Given the description of an element on the screen output the (x, y) to click on. 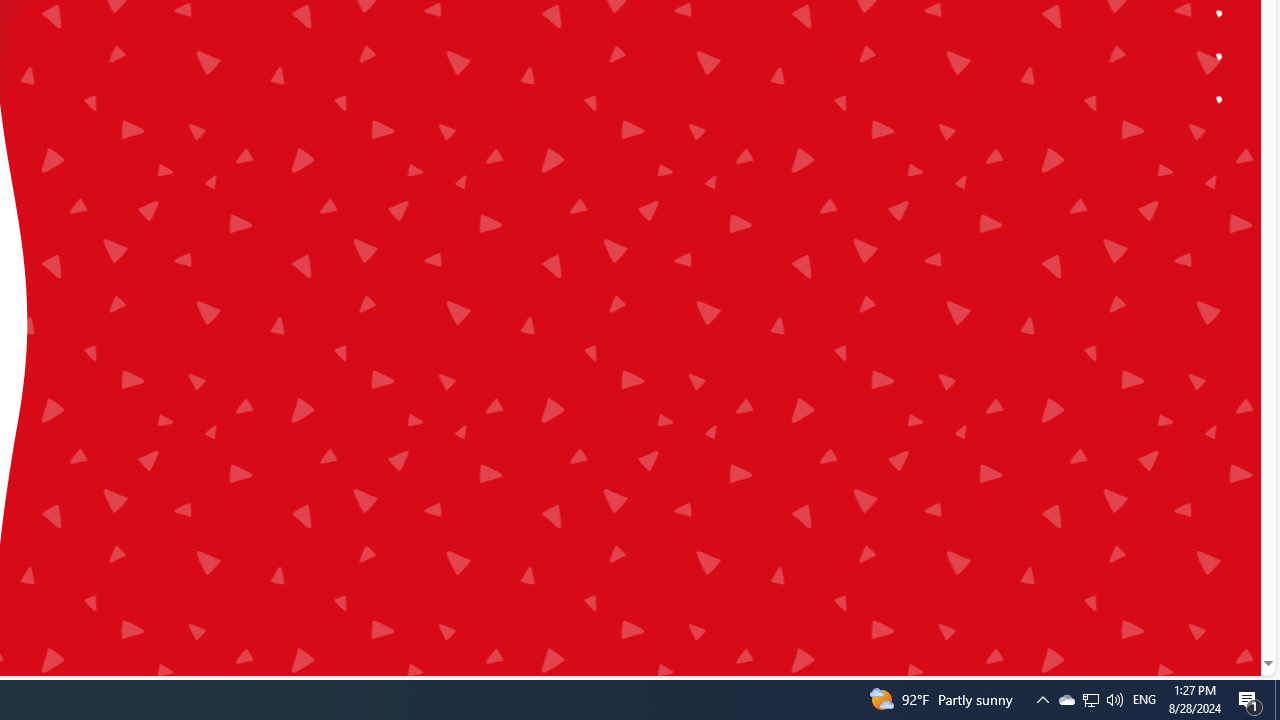
Class: ytk__arrow-link-icon ytk-desktop-up-only-inline (327, 58)
02Toys & Play (391, 179)
All kinds of videos for all kinds of kids. (1219, 56)
Class: ytk-dot-nav__dot (1219, 99)
01Arts & Crafts (391, 136)
Tips and tools for your family. (1219, 13)
04 Shows & Cartoons (391, 263)
CONTINUE EXPLORING (233, 61)
Class: ytk-dot-nav__circle (1219, 98)
01 Arts & Crafts (391, 136)
04Shows & Cartoons (391, 263)
All kinds of videos for all kinds of kids. (1219, 56)
03Learning & Hobbies (391, 220)
Download the free YouTube Kids app. (1219, 99)
Tips and tools for your family. (1219, 13)
